Given the description of an element on the screen output the (x, y) to click on. 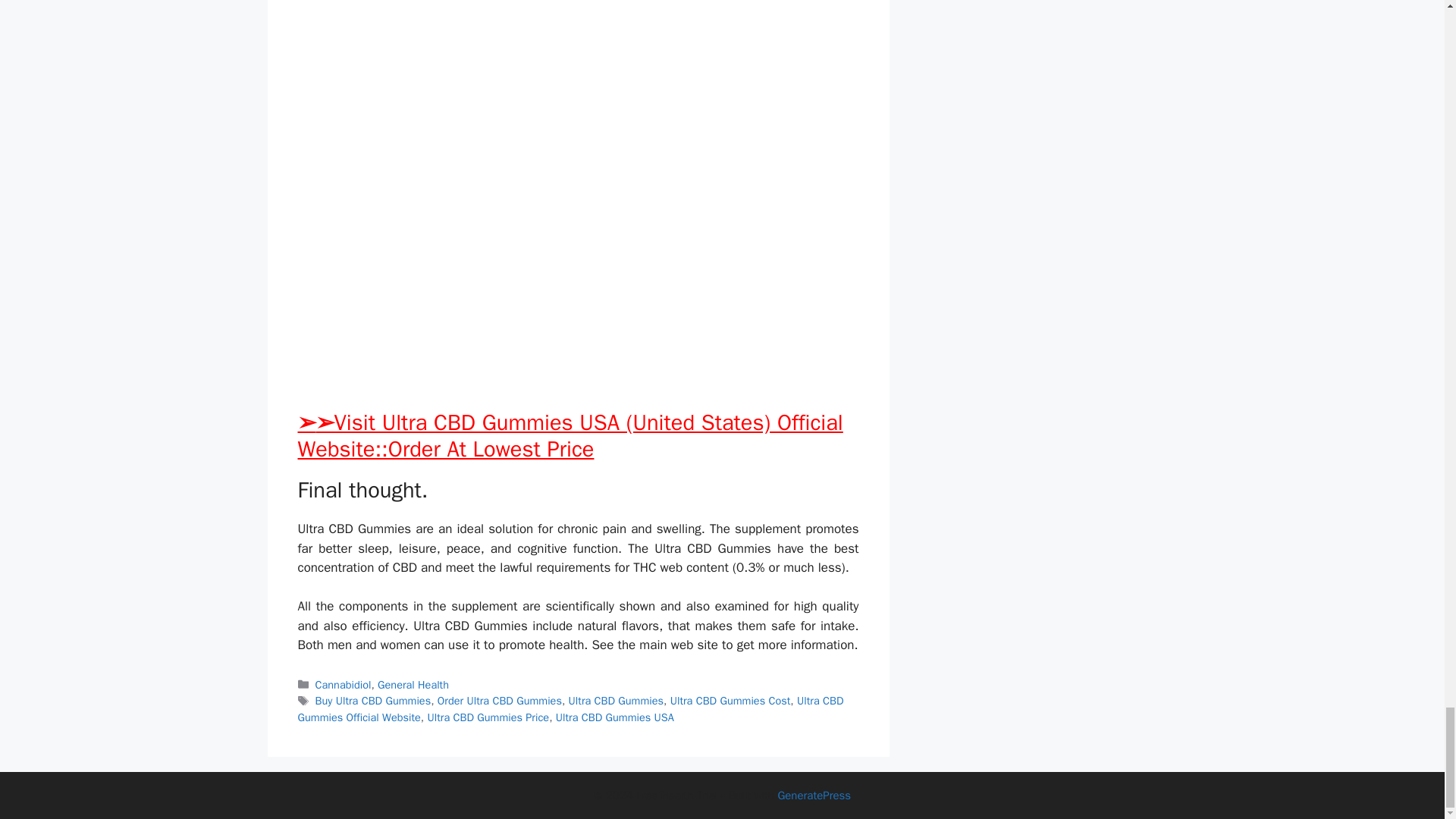
Ultra CBD Gummies USA (615, 716)
Cannabidiol (343, 684)
Ultra CBD Gummies Cost (729, 700)
Buy Ultra CBD Gummies (372, 700)
Ultra CBD Gummies Official Website (570, 708)
Ultra CBD Gummies Price (489, 716)
Order Ultra CBD Gummies (500, 700)
General Health (412, 684)
Ultra CBD Gummies (616, 700)
